Given the description of an element on the screen output the (x, y) to click on. 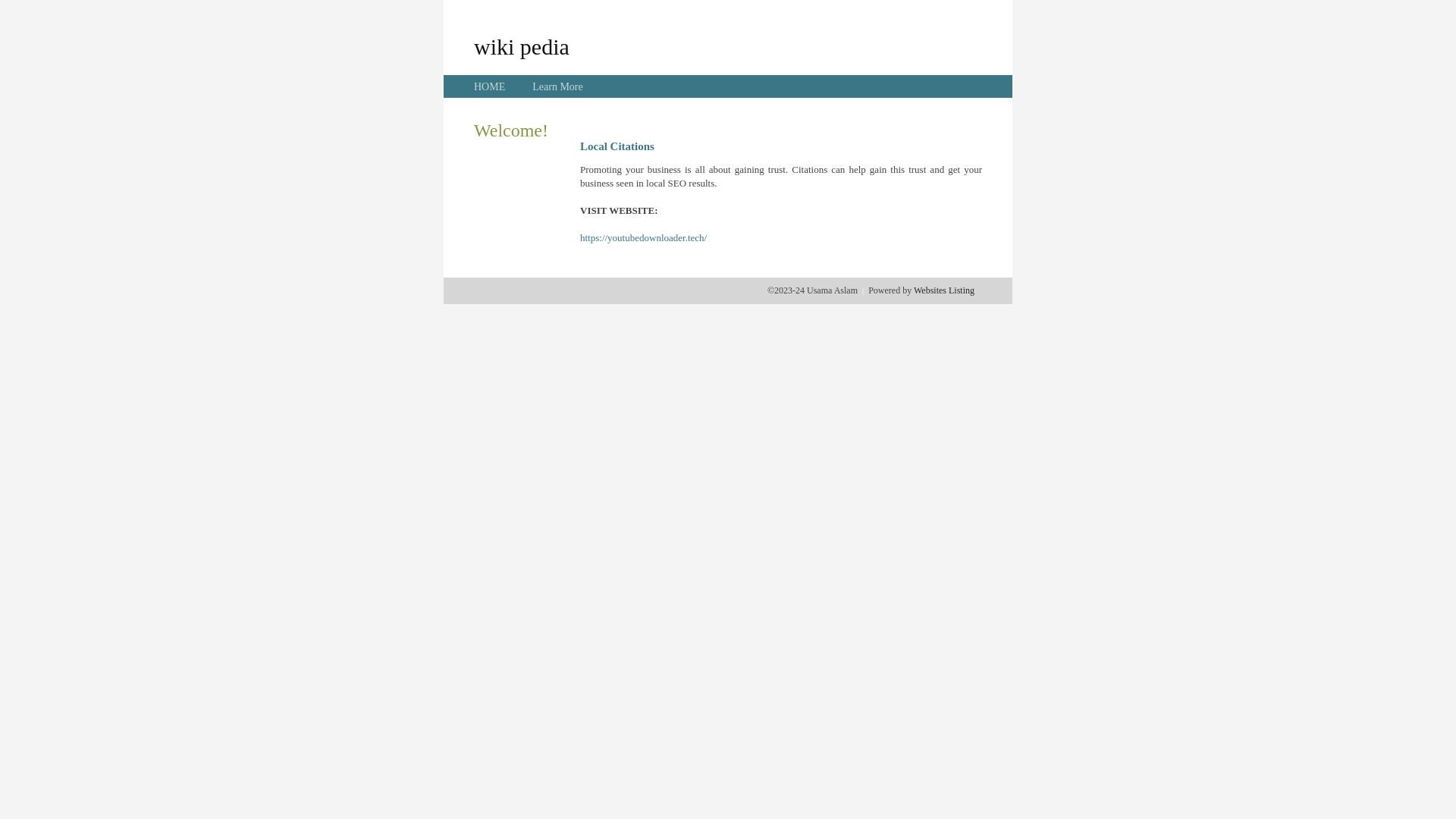
HOME Element type: text (489, 86)
Learn More Element type: text (557, 86)
https://youtubedownloader.tech/ Element type: text (643, 237)
Websites Listing Element type: text (943, 290)
wiki pedia Element type: text (521, 46)
